Given the description of an element on the screen output the (x, y) to click on. 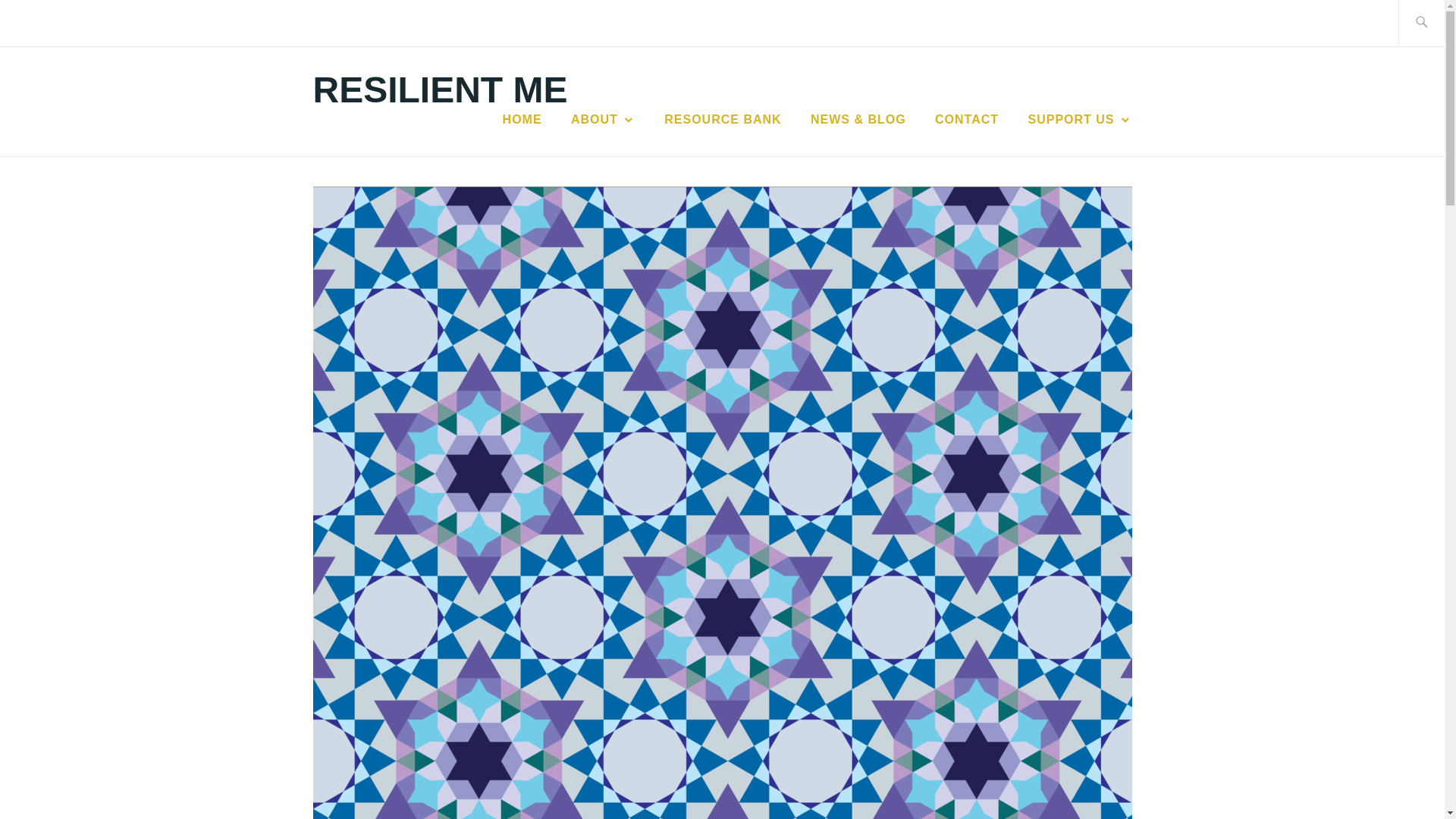
CONTACT (966, 119)
RESOURCE BANK (721, 119)
Search (47, 22)
RESILIENT ME (440, 89)
HOME (521, 119)
SUPPORT US (1079, 119)
ABOUT (602, 119)
